Given the description of an element on the screen output the (x, y) to click on. 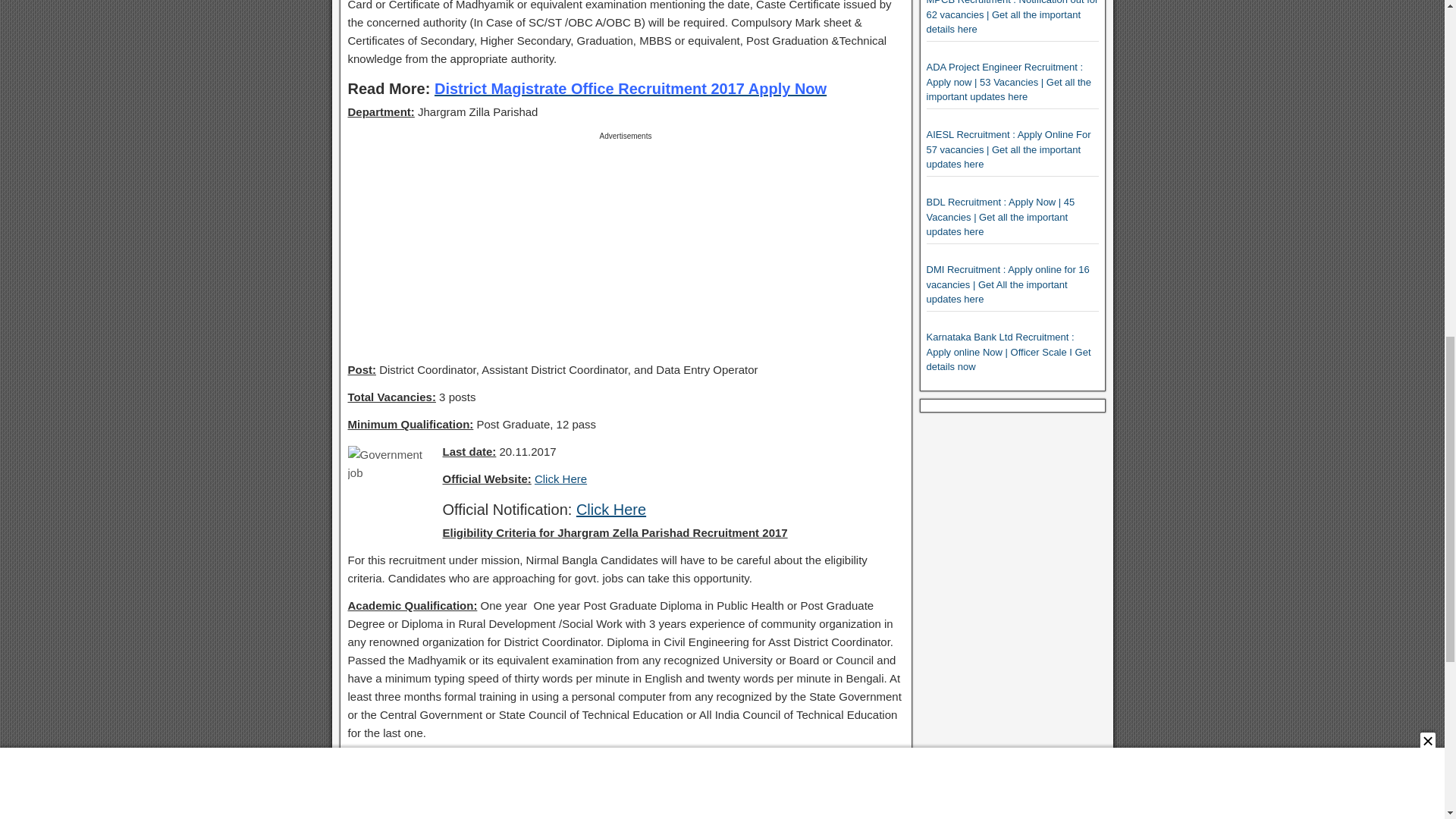
District Magistrate Office Recruitment 2017 Apply Now (630, 88)
Click Here (560, 478)
Click Here (611, 508)
